Given the description of an element on the screen output the (x, y) to click on. 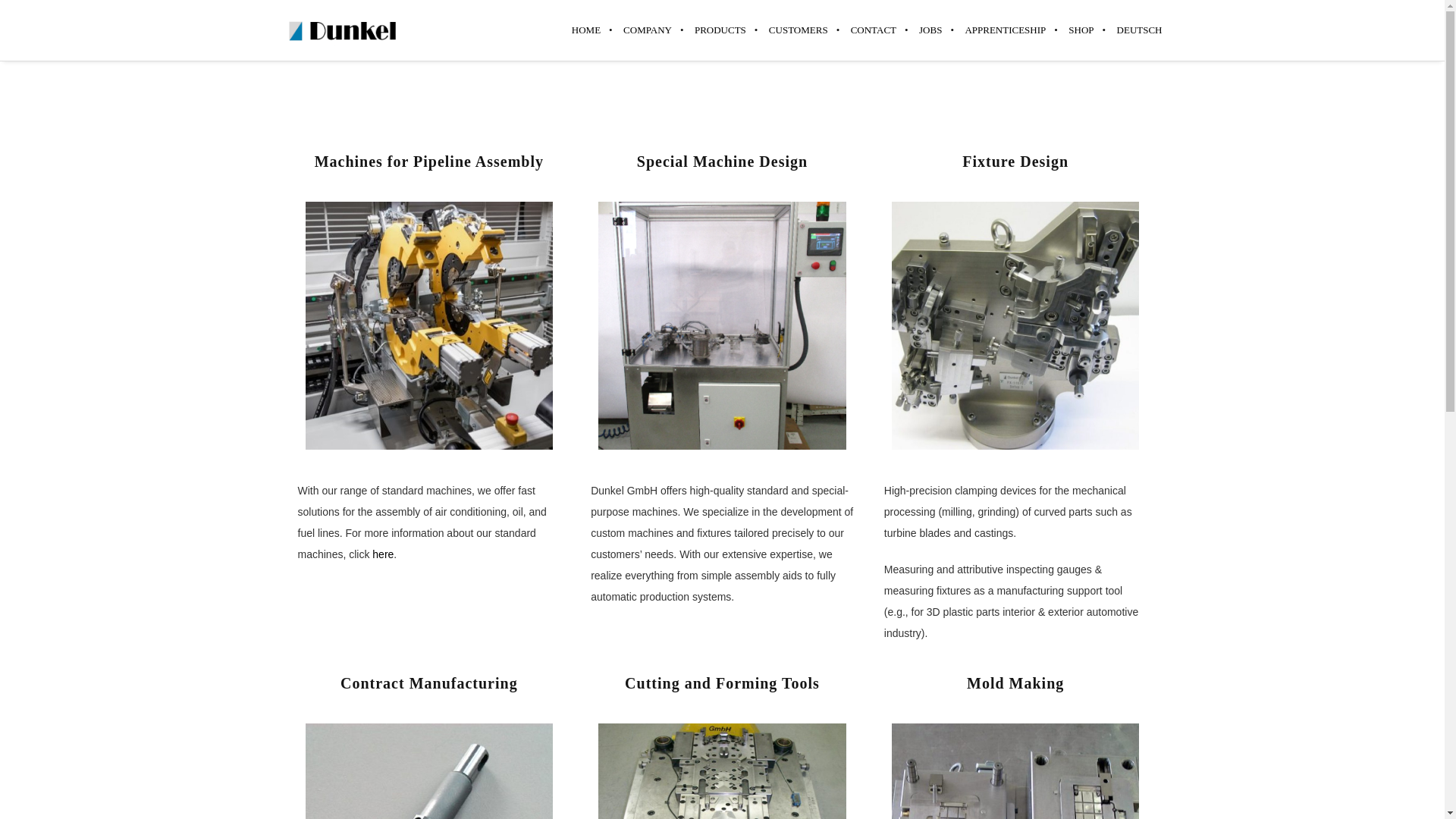
APPRENTICESHIP (1005, 30)
CONTACT (873, 30)
COMPANY (646, 30)
DEUTSCH (1133, 30)
CUSTOMERS (798, 30)
PRODUCTS (719, 30)
